Given the description of an element on the screen output the (x, y) to click on. 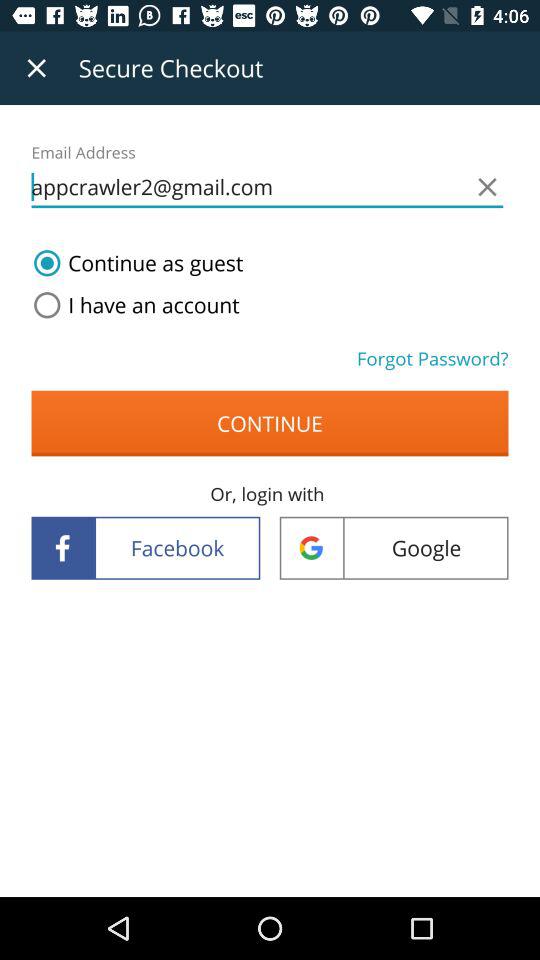
flip to the continue as guest icon (134, 263)
